Given the description of an element on the screen output the (x, y) to click on. 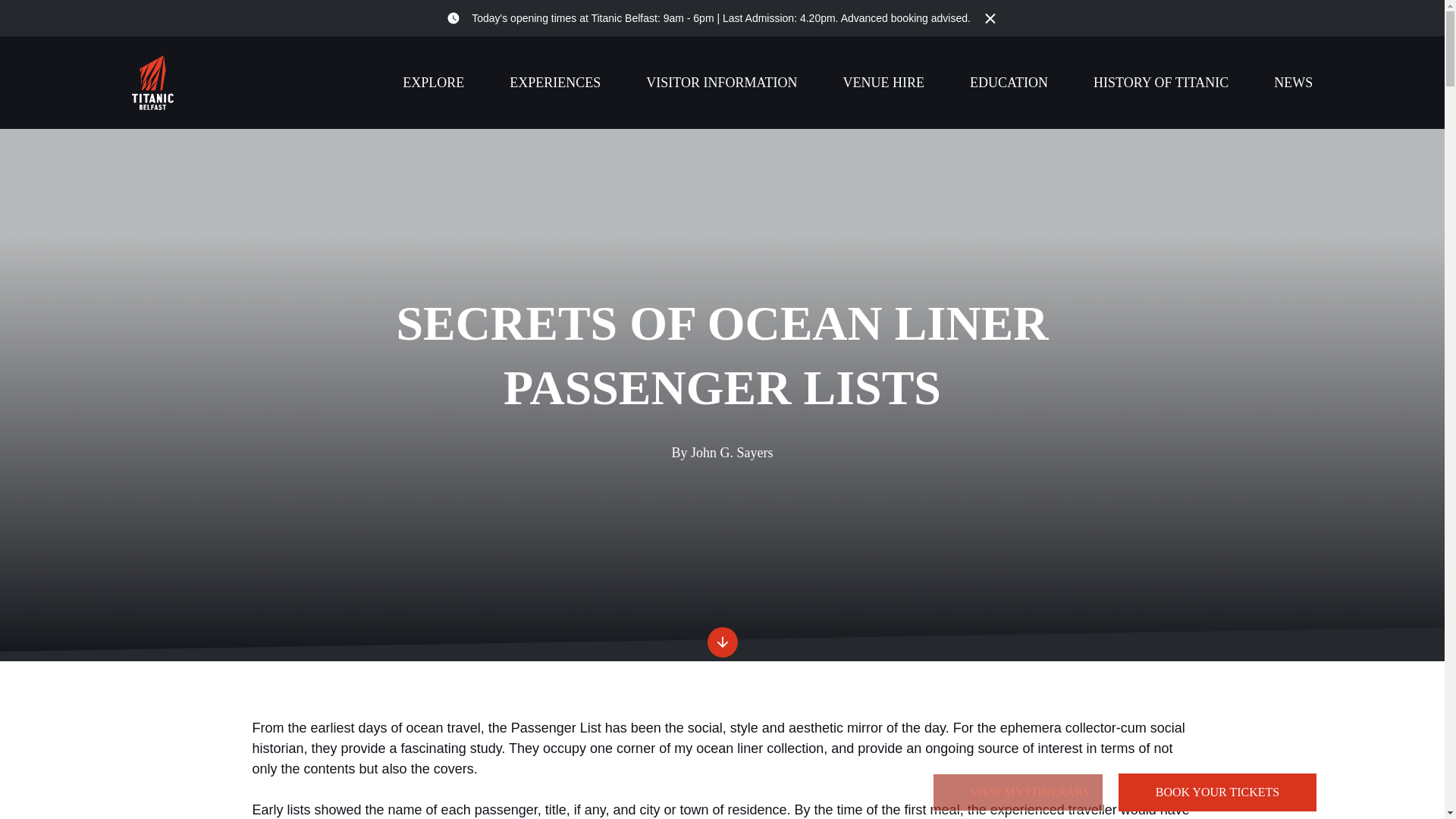
EXPERIENCES (554, 82)
VISITOR INFORMATION (721, 82)
EXPLORE (433, 82)
EDUCATION (1008, 82)
VENUE HIRE (883, 82)
